Given the description of an element on the screen output the (x, y) to click on. 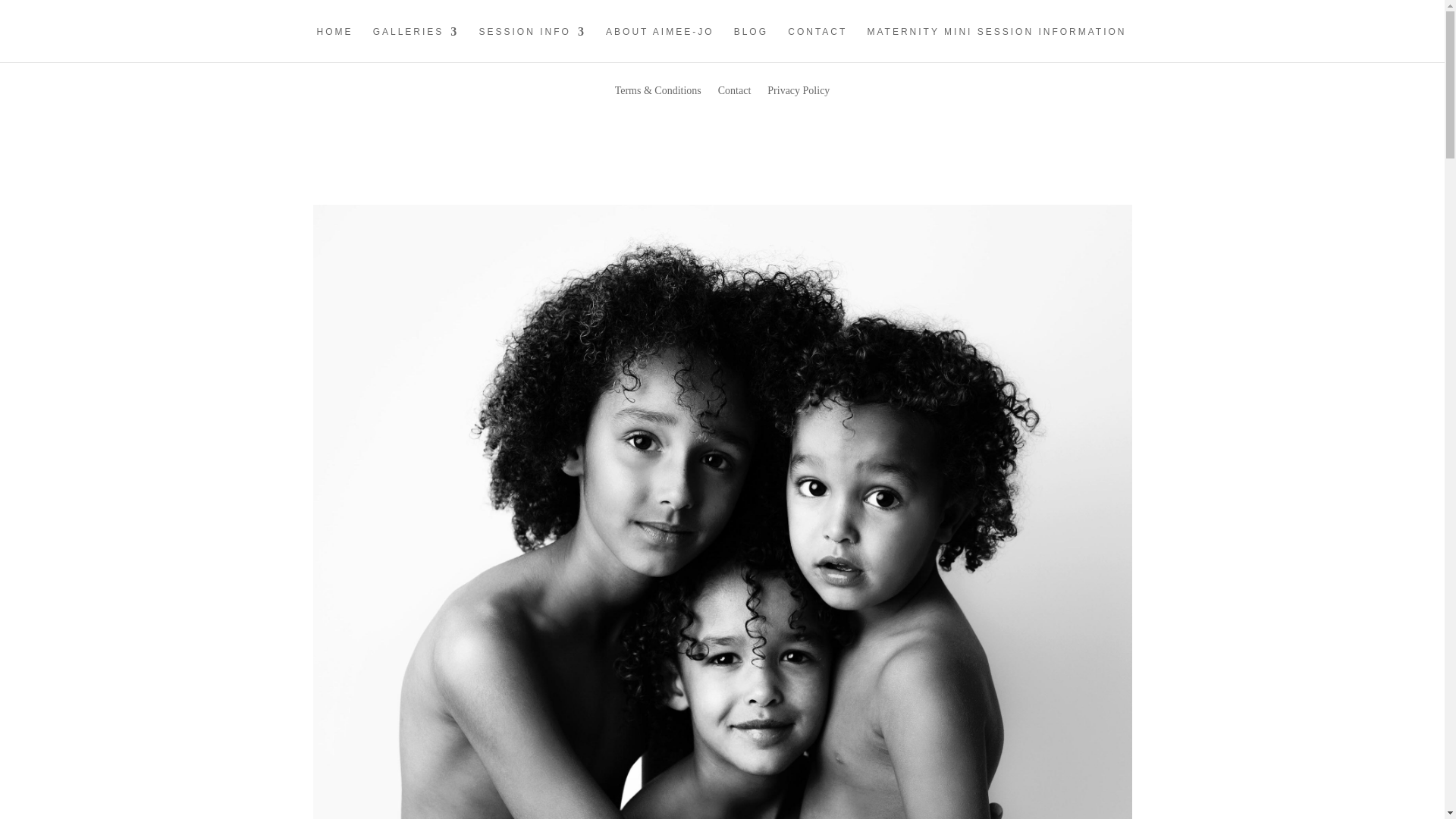
ABOUT AIMEE-JO (659, 44)
Contact (734, 101)
GALLERIES (416, 44)
SESSION INFO (532, 44)
CONTACT (817, 44)
MATERNITY MINI SESSION INFORMATION (996, 44)
BLOG (750, 44)
HOME (333, 44)
Privacy Policy (798, 101)
